Given the description of an element on the screen output the (x, y) to click on. 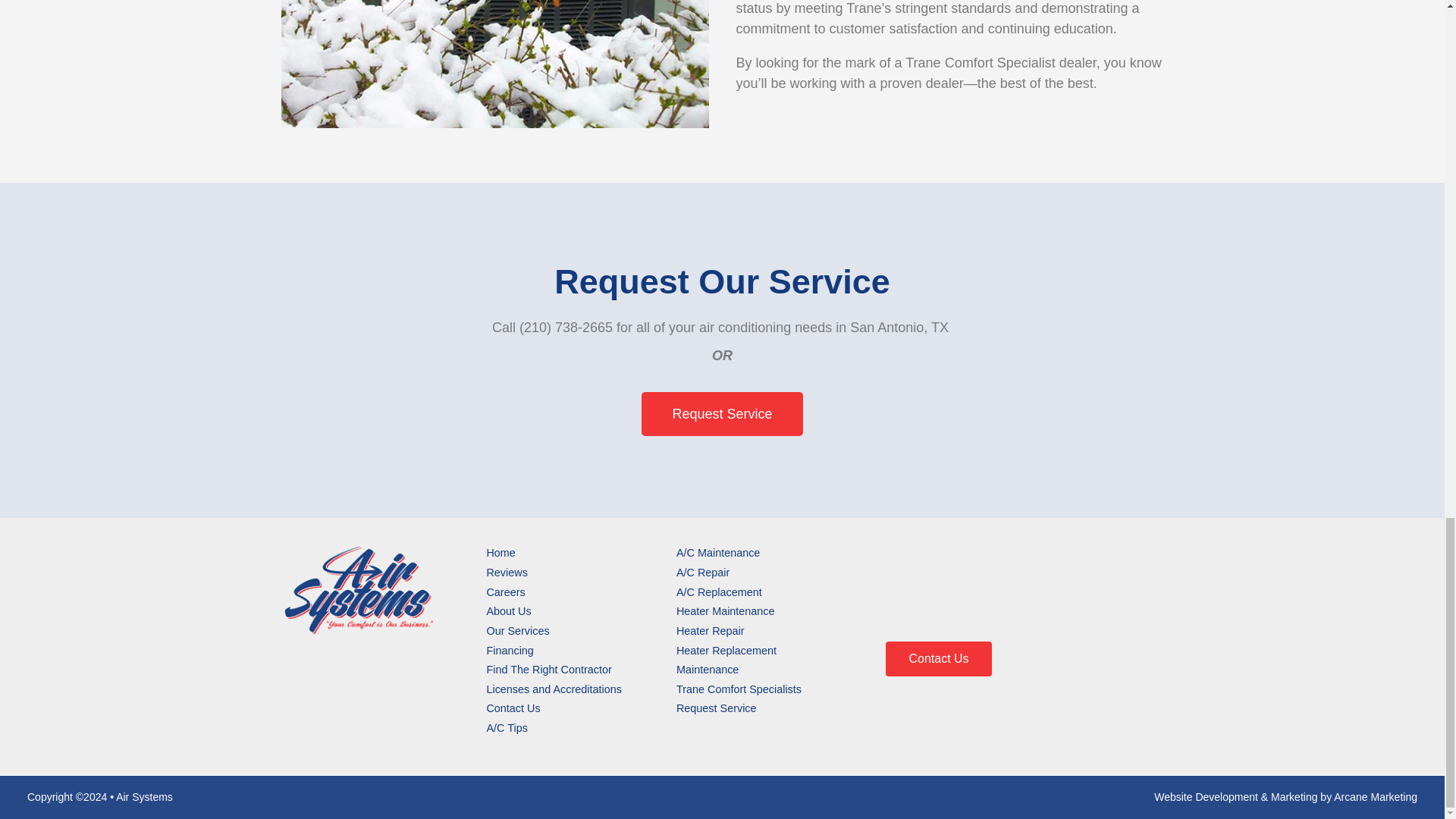
Page 7 (949, 47)
